Given the description of an element on the screen output the (x, y) to click on. 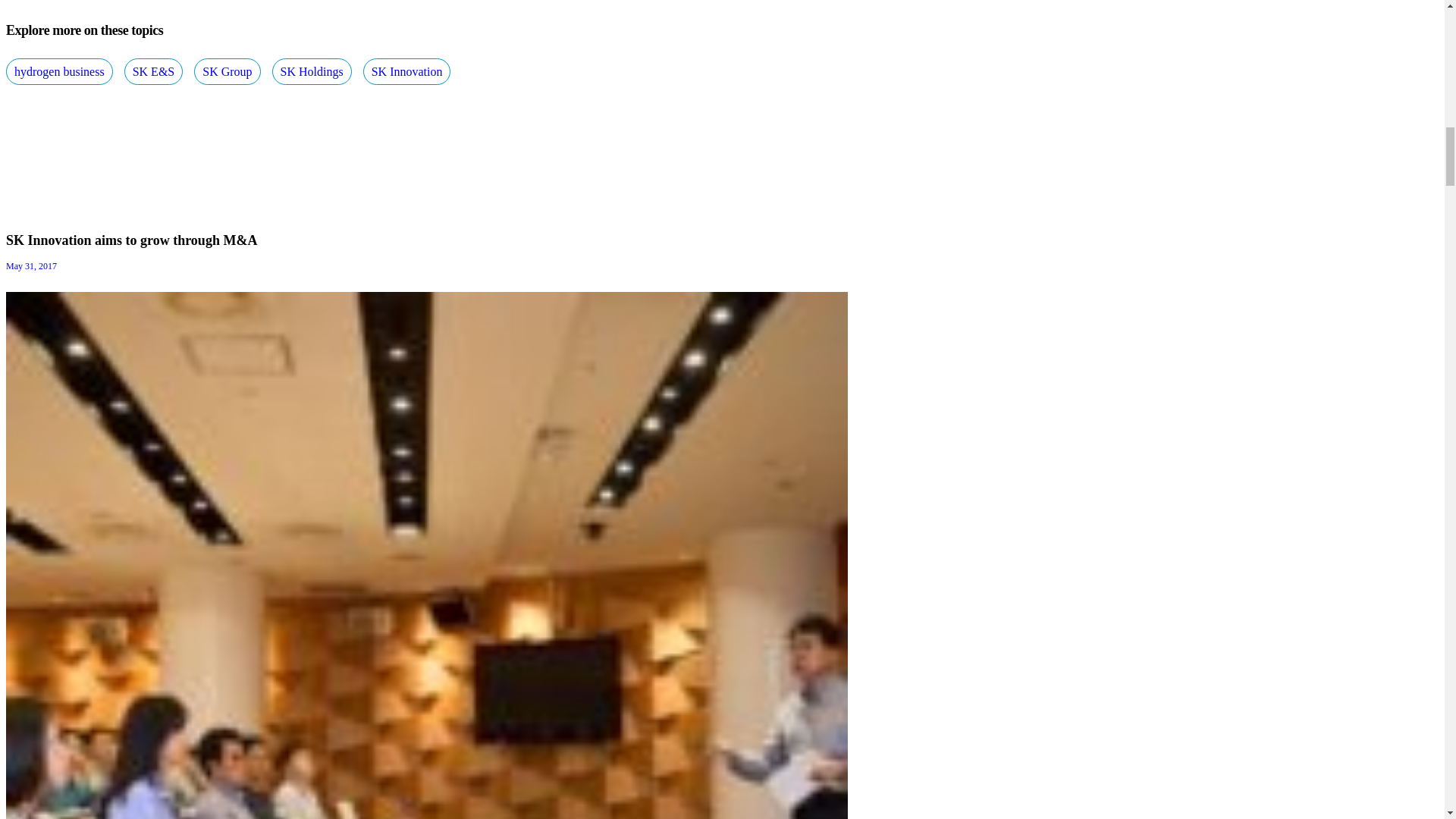
May 31, 2017 (30, 266)
hydrogen business (59, 71)
SK Holdings (312, 71)
SK Innovation (406, 71)
SK Group (226, 71)
